Given the description of an element on the screen output the (x, y) to click on. 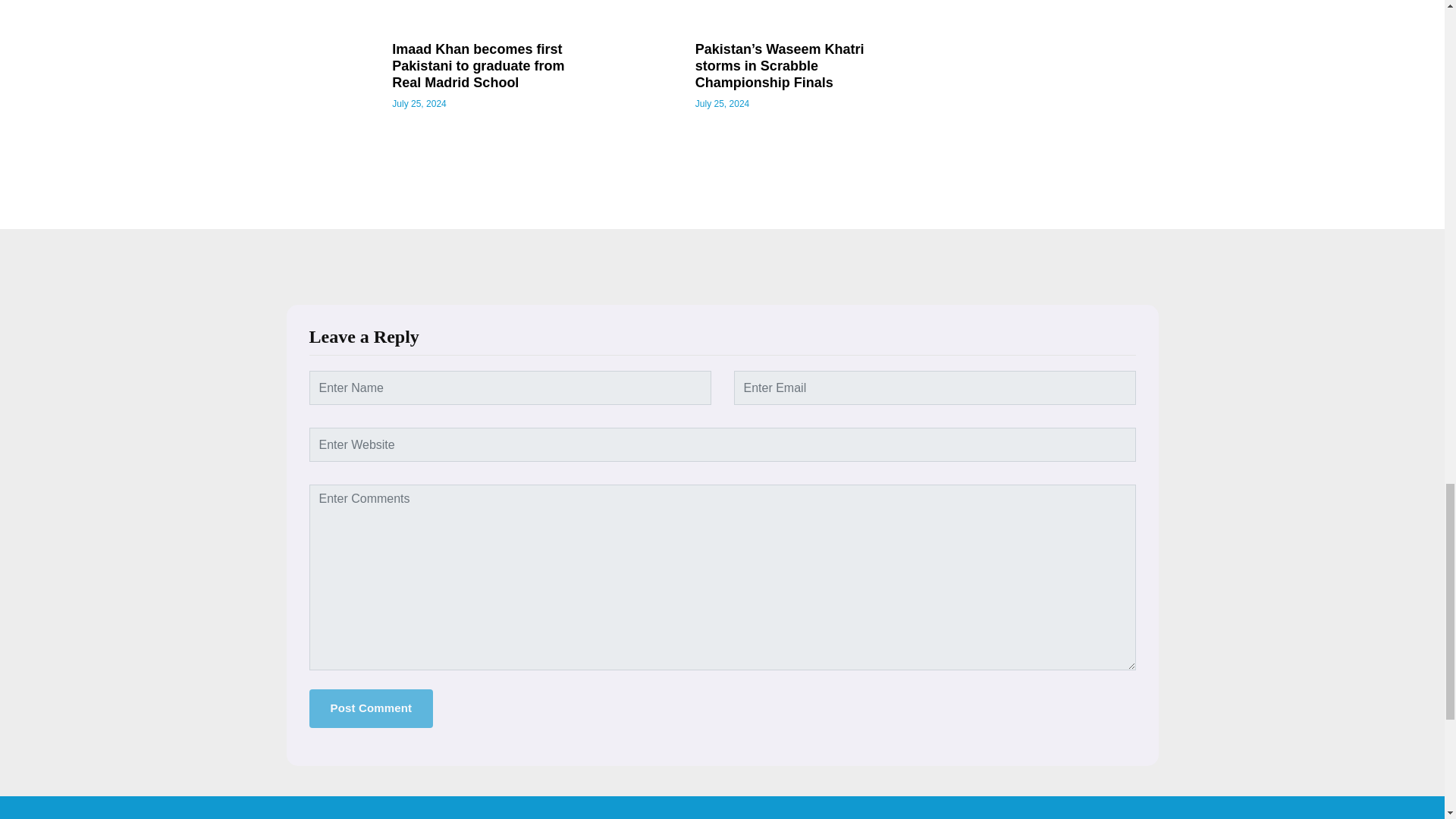
Post Comment (370, 708)
